Given the description of an element on the screen output the (x, y) to click on. 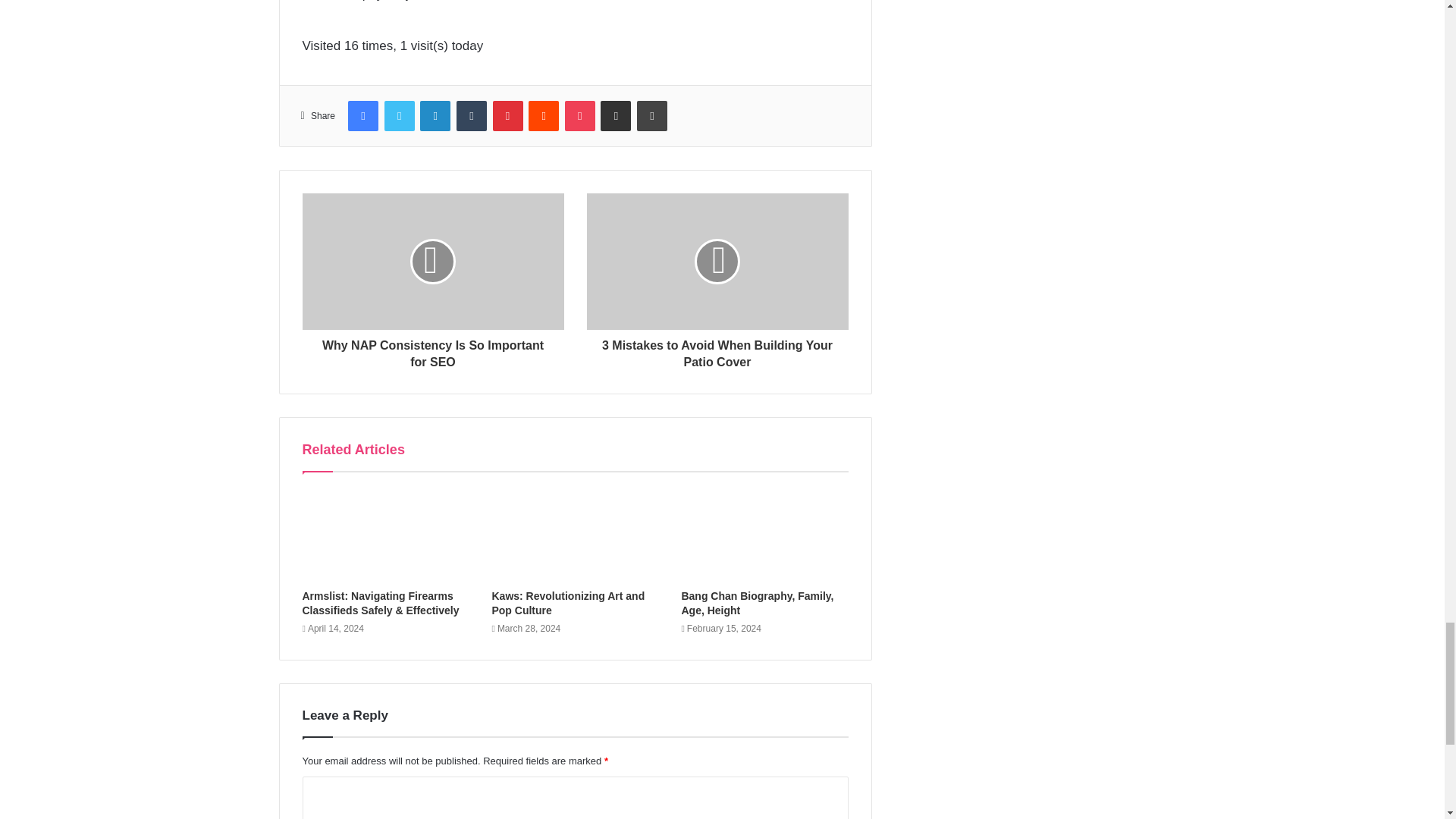
Twitter (399, 115)
Tumblr (471, 115)
Pocket (579, 115)
Reddit (543, 115)
LinkedIn (434, 115)
Facebook (362, 115)
Pinterest (507, 115)
